Given the description of an element on the screen output the (x, y) to click on. 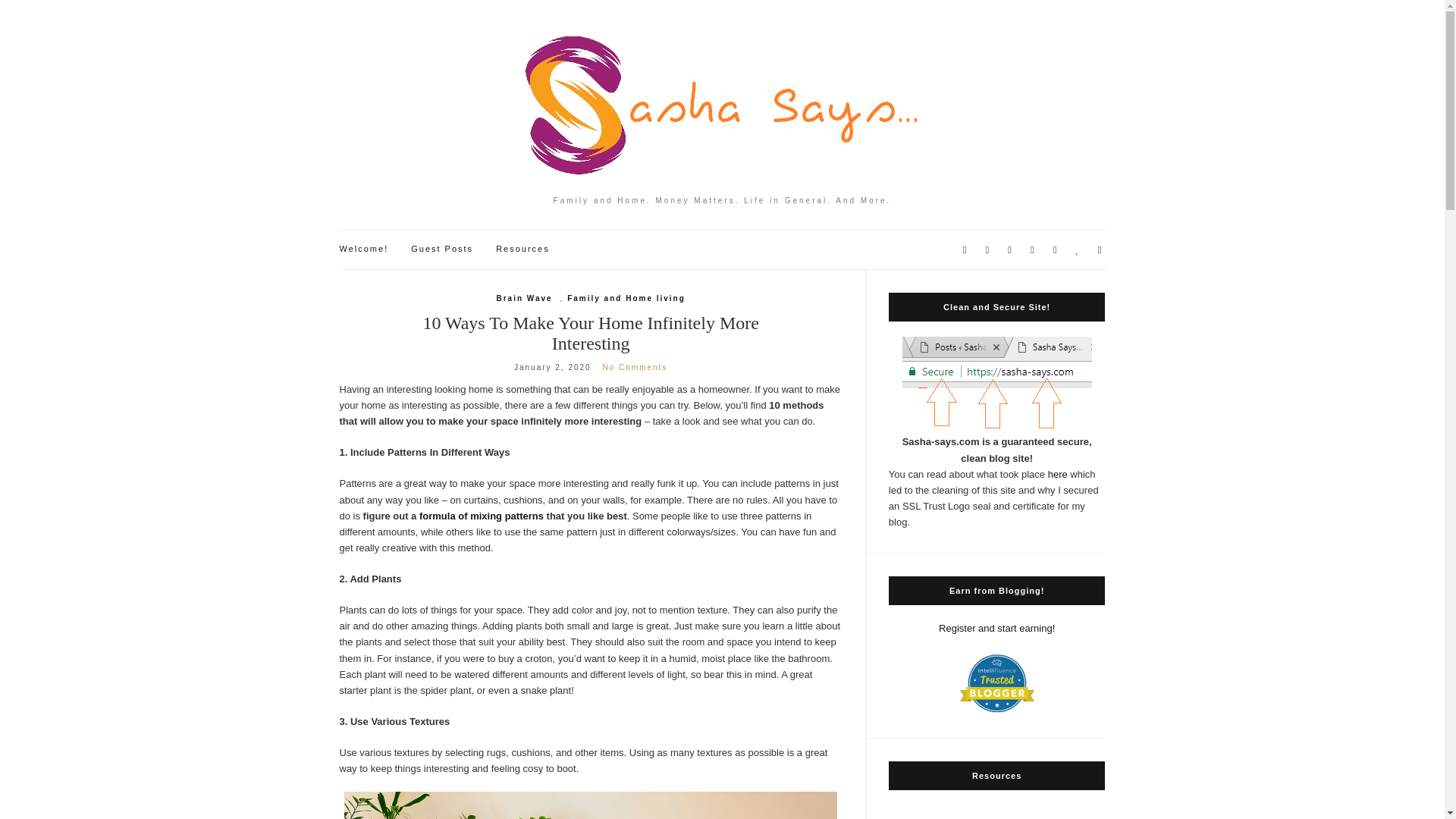
Brain Wave (523, 298)
Family and Home living (626, 298)
formula of mixing patterns (481, 515)
Welcome! (363, 249)
Guest Posts (441, 249)
Resources (523, 249)
here (1057, 473)
Register and start earning! (996, 627)
No Comments (634, 367)
